Given the description of an element on the screen output the (x, y) to click on. 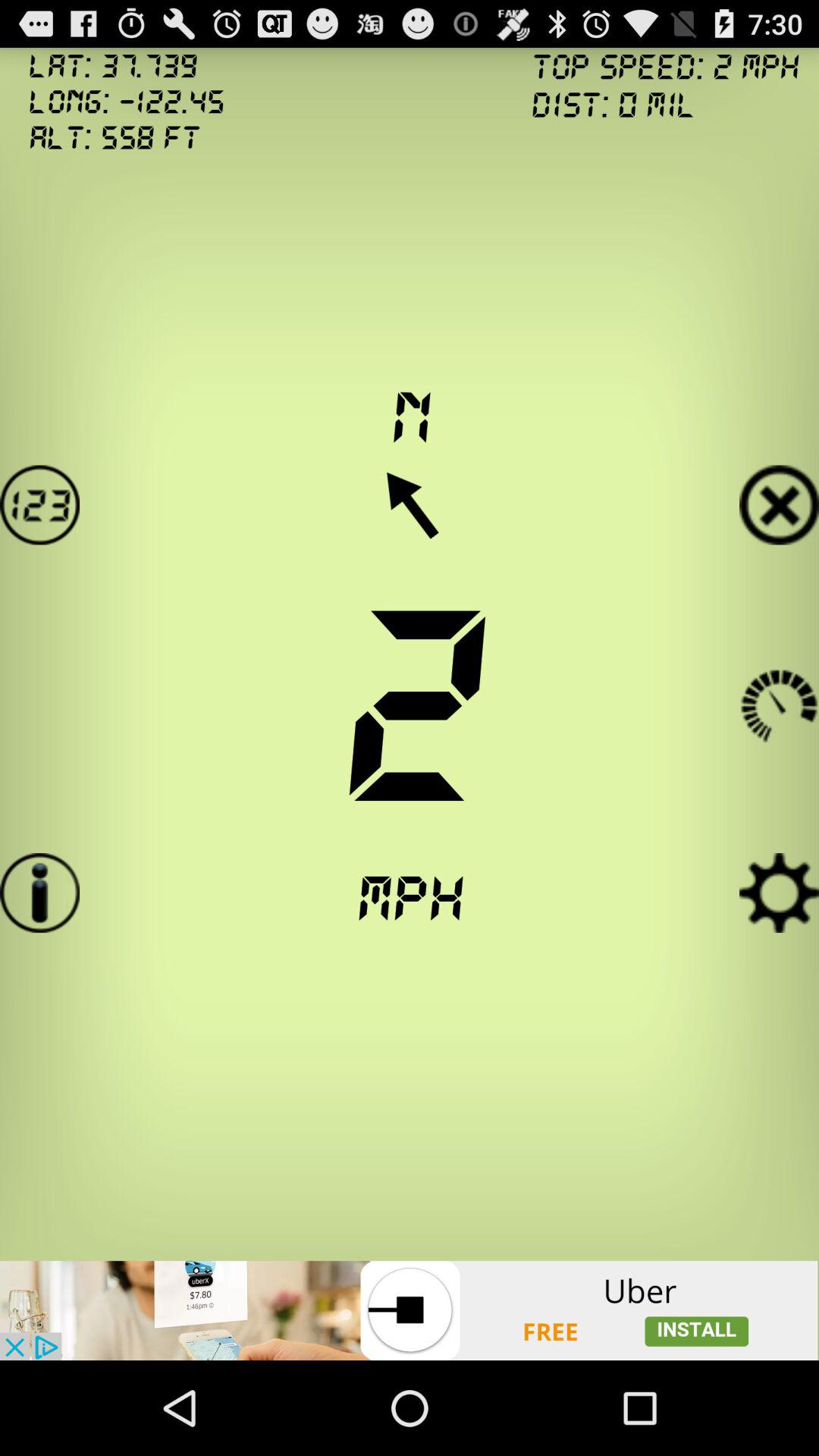
open settings (779, 892)
